Given the description of an element on the screen output the (x, y) to click on. 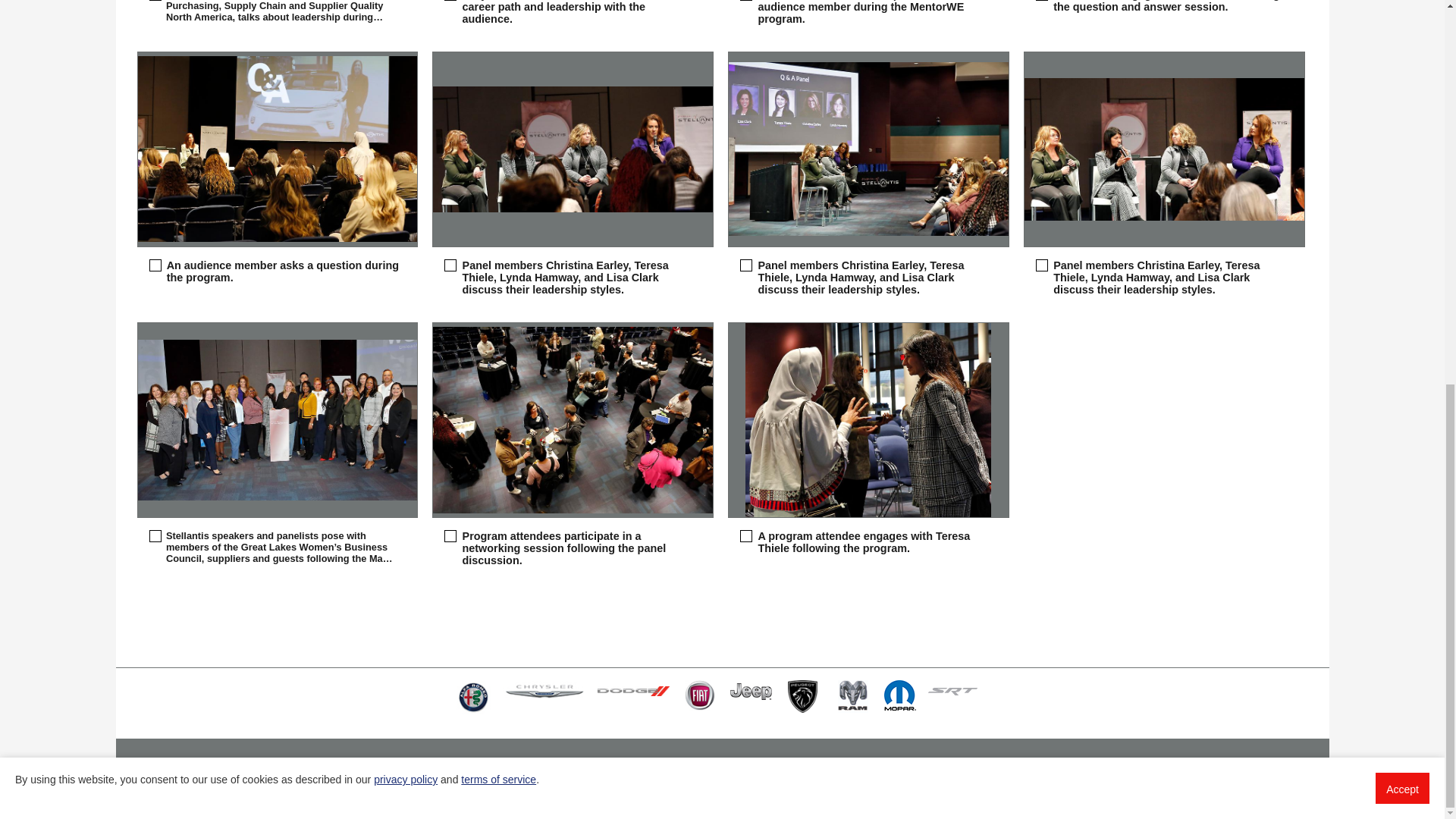
An audience member asks a question during the program. (276, 149)
